Given the description of an element on the screen output the (x, y) to click on. 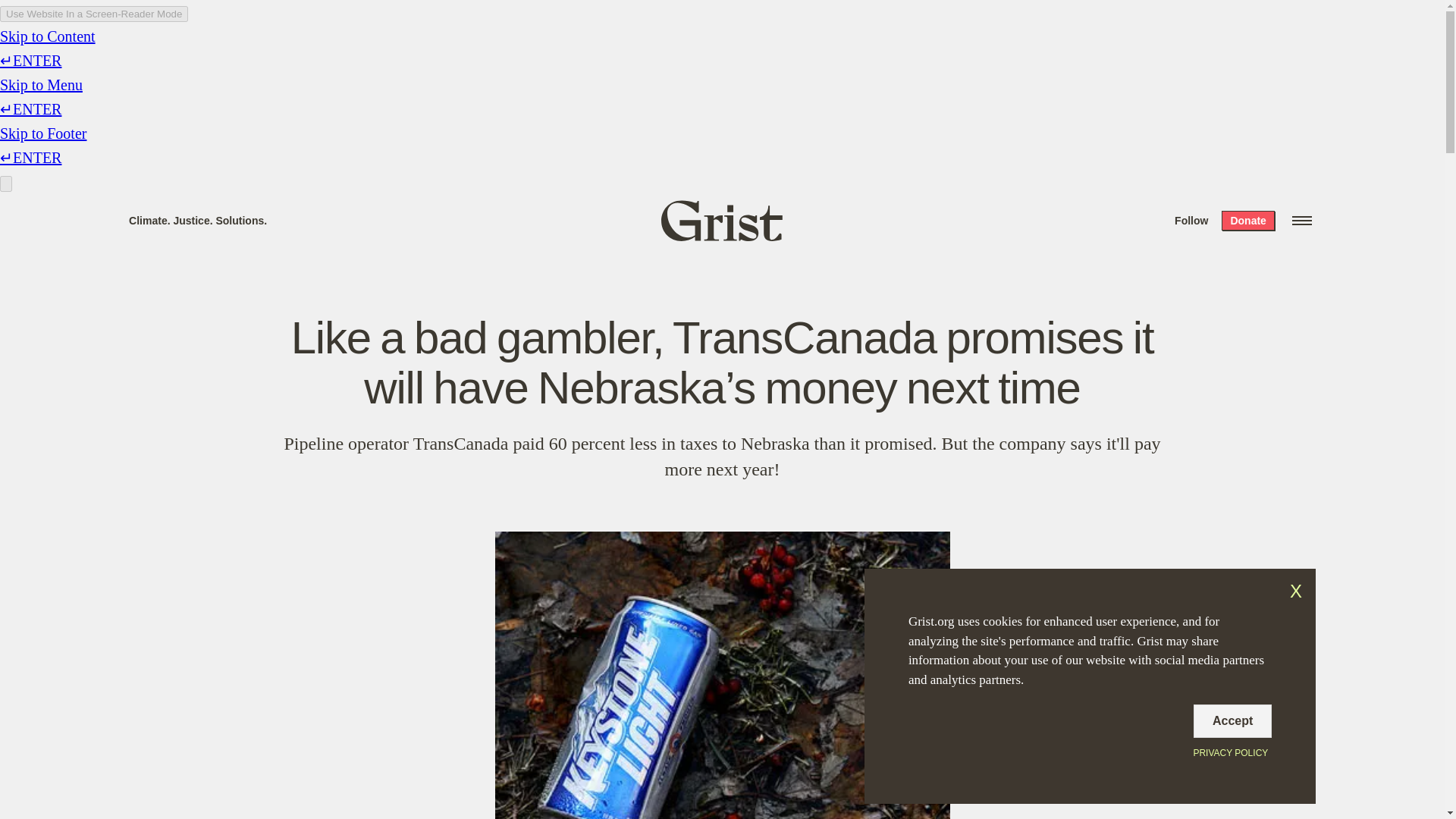
Grist home (722, 219)
Donate (1247, 220)
Accept (1232, 720)
Follow (1191, 220)
Search (227, 18)
